Given the description of an element on the screen output the (x, y) to click on. 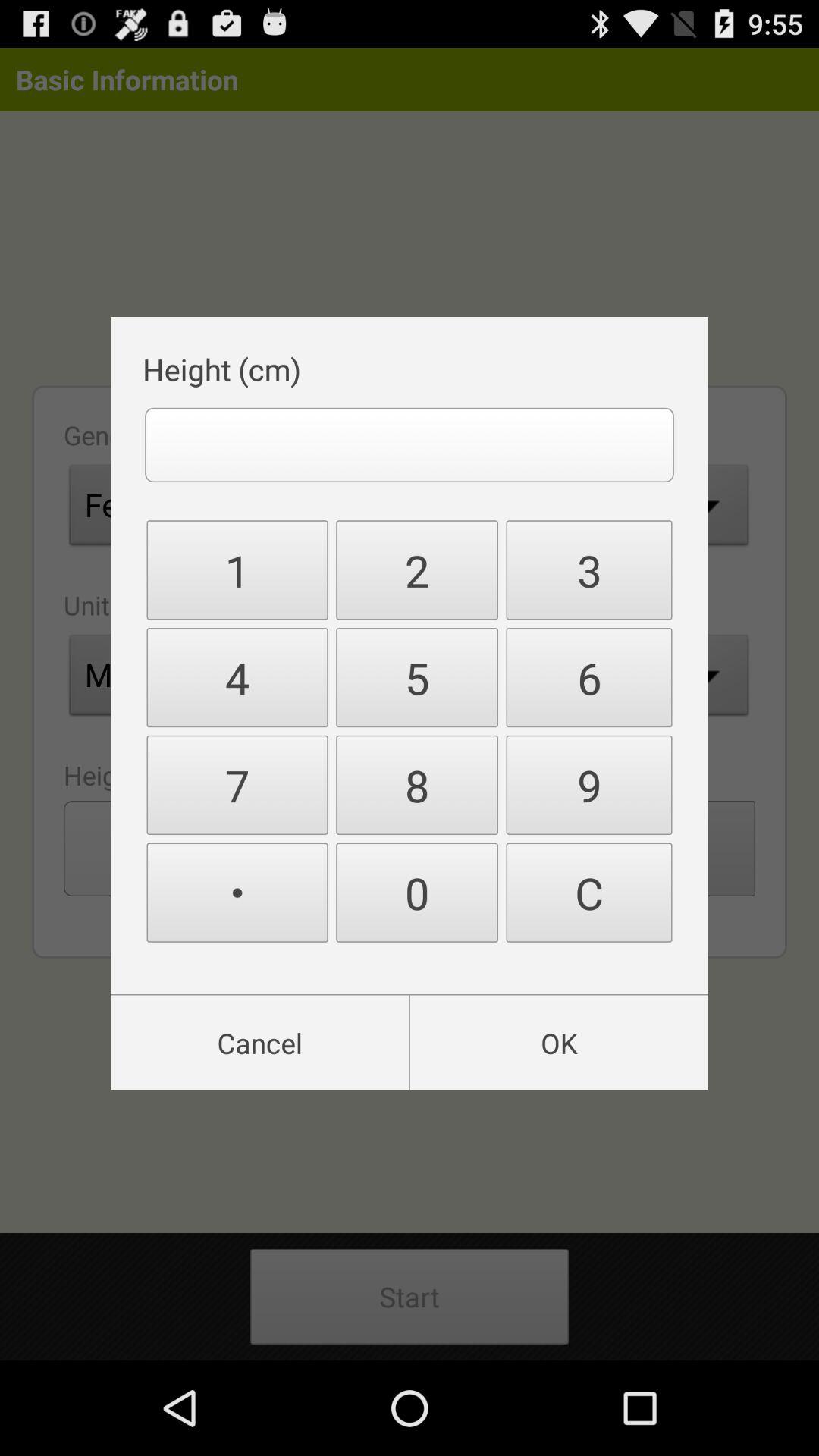
jump to 5 button (417, 677)
